Given the description of an element on the screen output the (x, y) to click on. 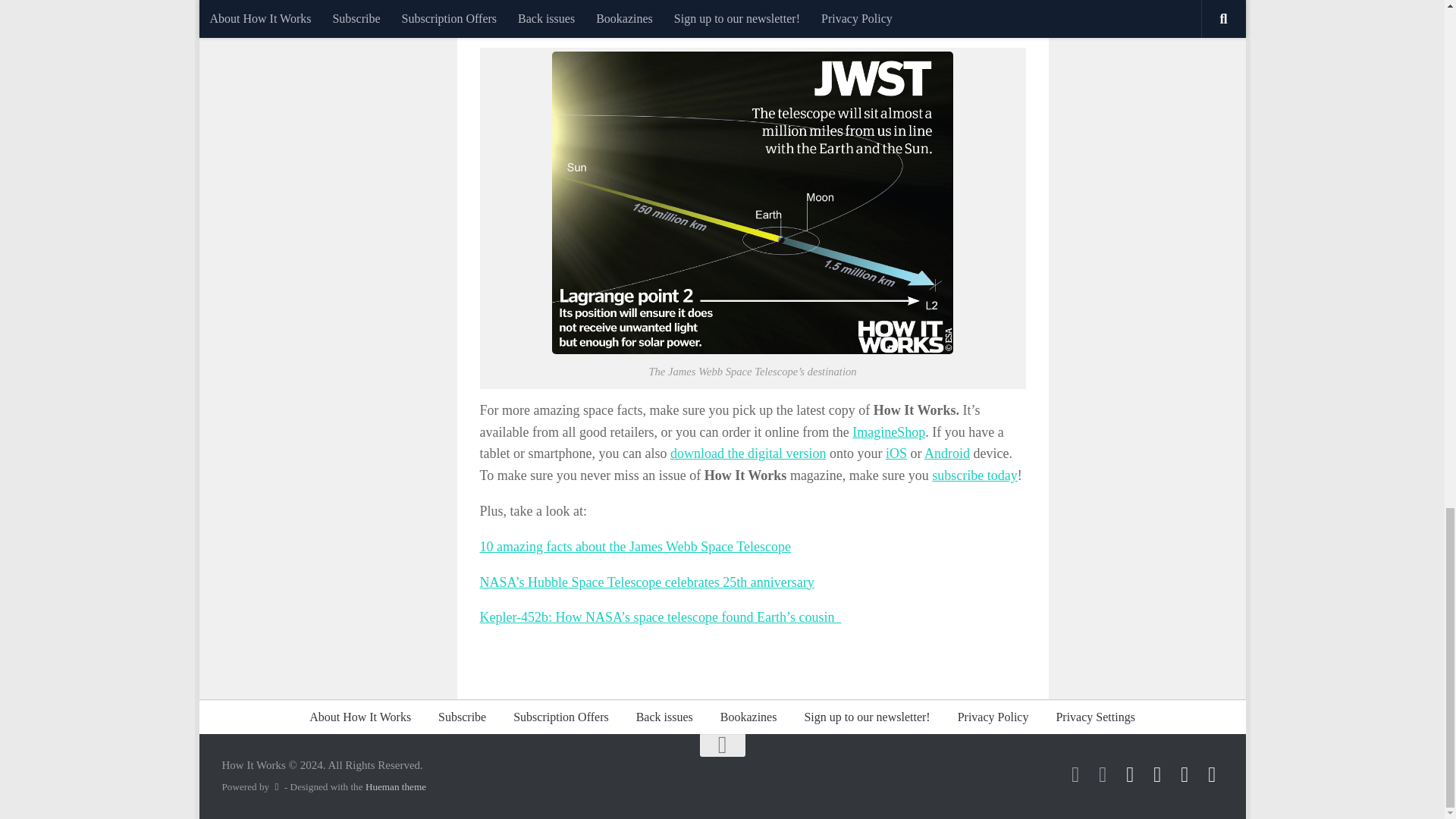
Android (946, 453)
download the digital version (747, 453)
ImagineShop (887, 432)
subscribe today (973, 475)
Hueman theme (395, 786)
iOS (896, 453)
10 amazing facts about the James Webb Space Telescope (634, 546)
Powered by WordPress (275, 786)
Follow us on Tiktok (1075, 774)
